Given the description of an element on the screen output the (x, y) to click on. 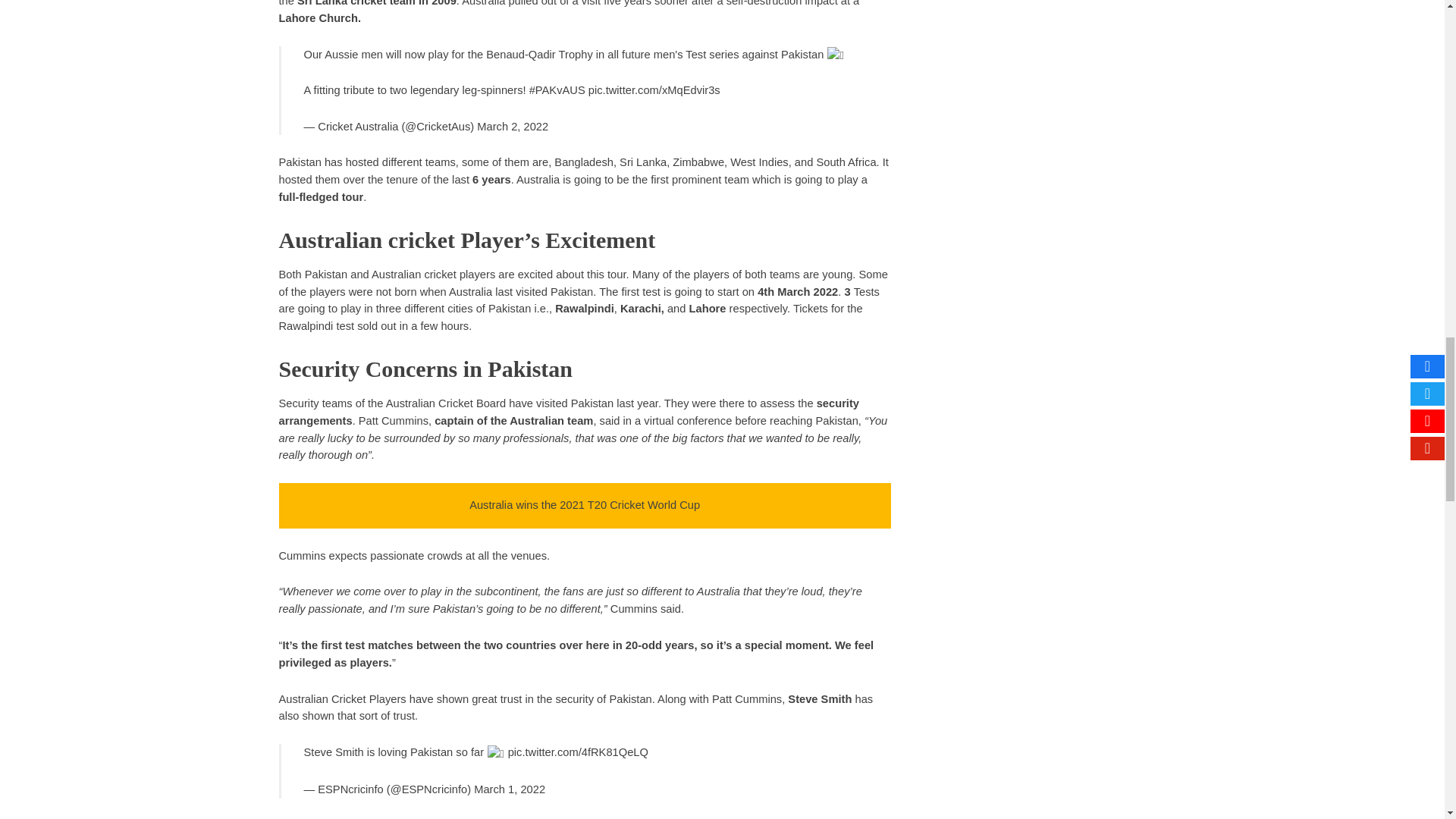
Australia wins the 2021 T20 Cricket World Cup (584, 504)
March 2, 2022 (512, 126)
March 1, 2022 (509, 788)
